Given the description of an element on the screen output the (x, y) to click on. 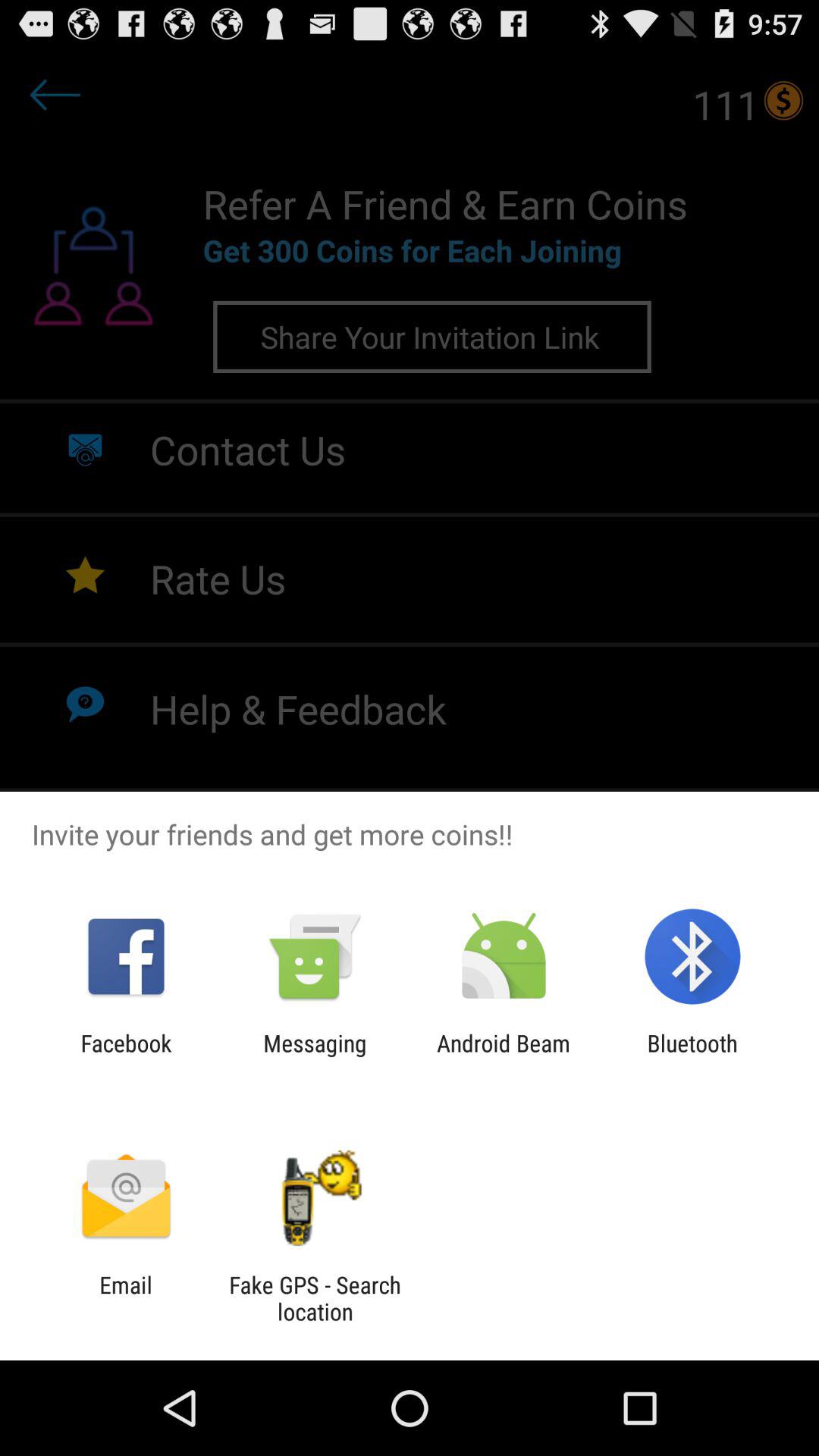
jump to email app (125, 1298)
